Given the description of an element on the screen output the (x, y) to click on. 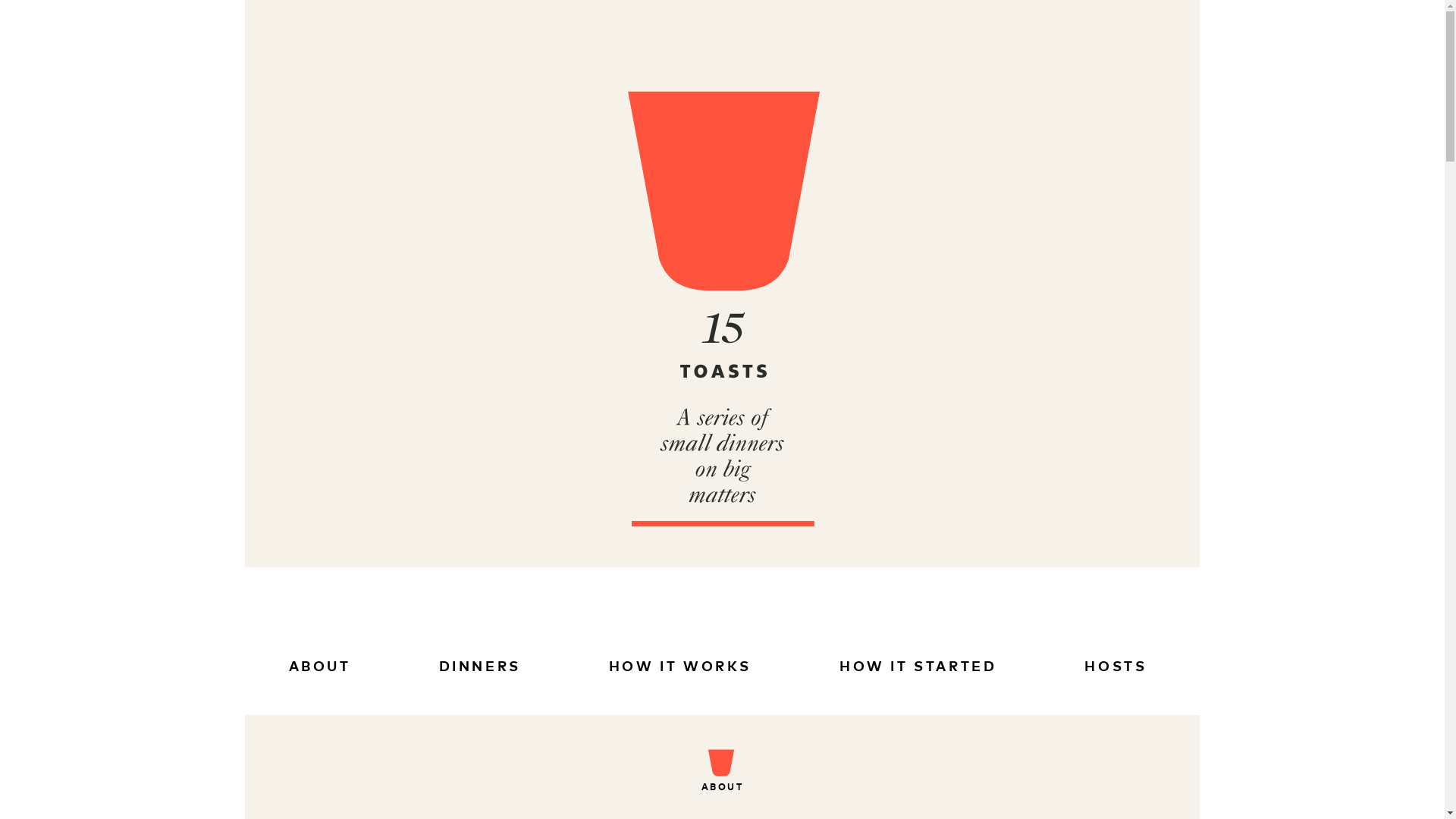
ABOUT Element type: text (318, 666)
HOW IT WORKS Element type: text (680, 666)
DINNERS Element type: text (478, 666)
HOW IT STARTED Element type: text (917, 666)
HOSTS Element type: text (1115, 666)
